Given the description of an element on the screen output the (x, y) to click on. 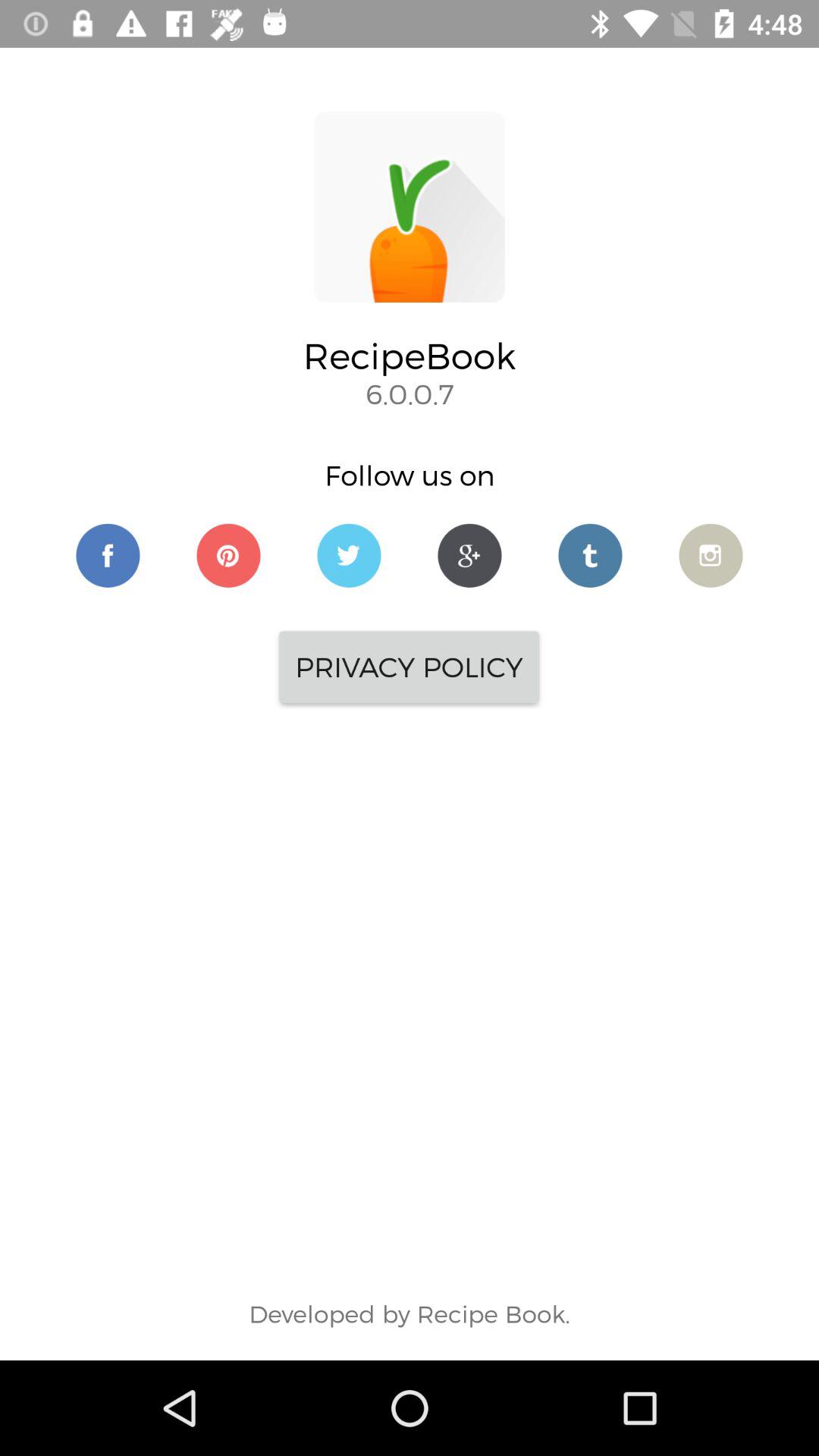
twitter (590, 555)
